Given the description of an element on the screen output the (x, y) to click on. 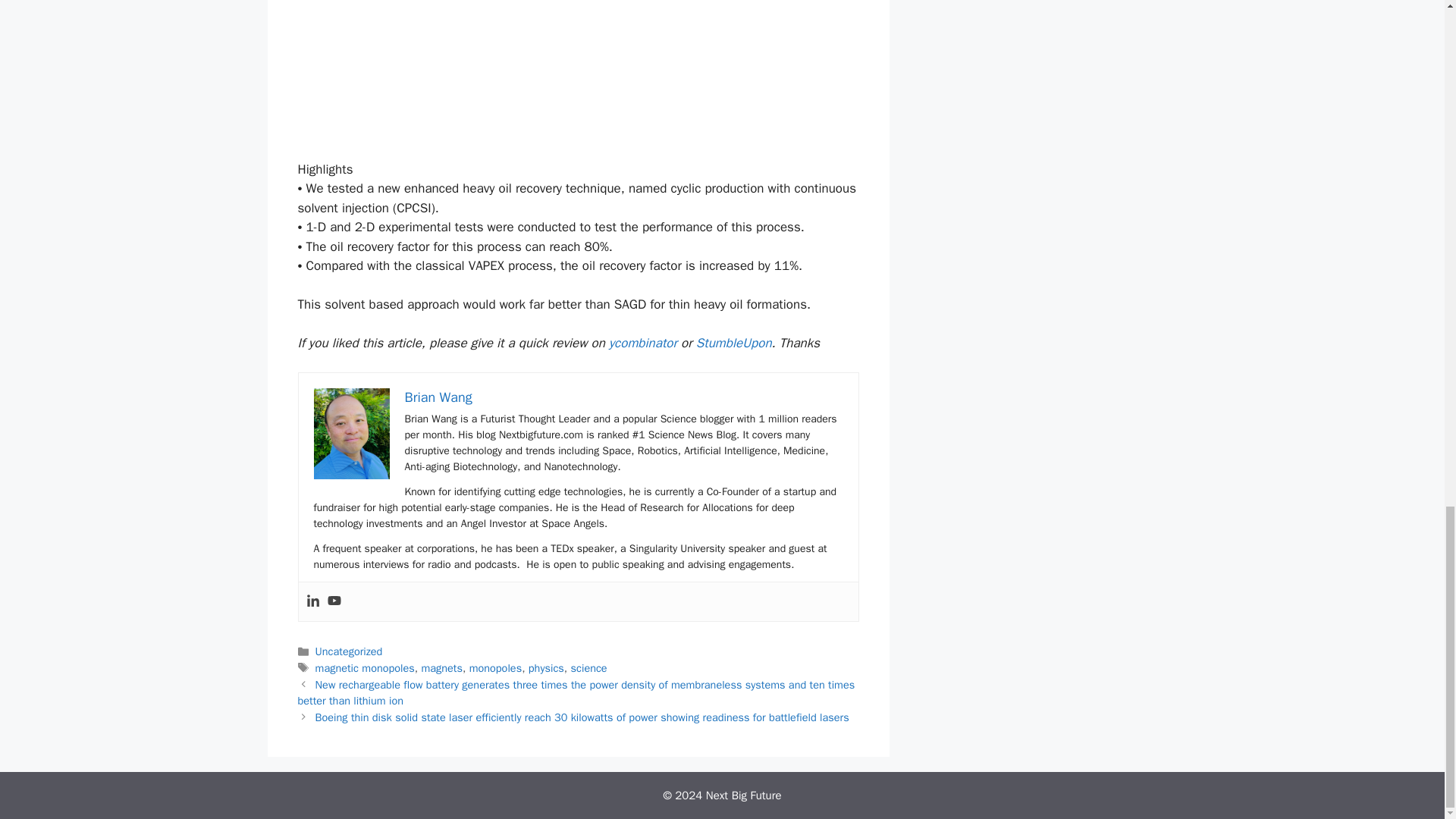
magnetic monopoles (364, 667)
science (588, 667)
Uncategorized (348, 651)
ycombinator (642, 342)
magnets (441, 667)
Brian Wang (437, 397)
physics (546, 667)
StumbleUpon (733, 342)
monopoles (494, 667)
